Given the description of an element on the screen output the (x, y) to click on. 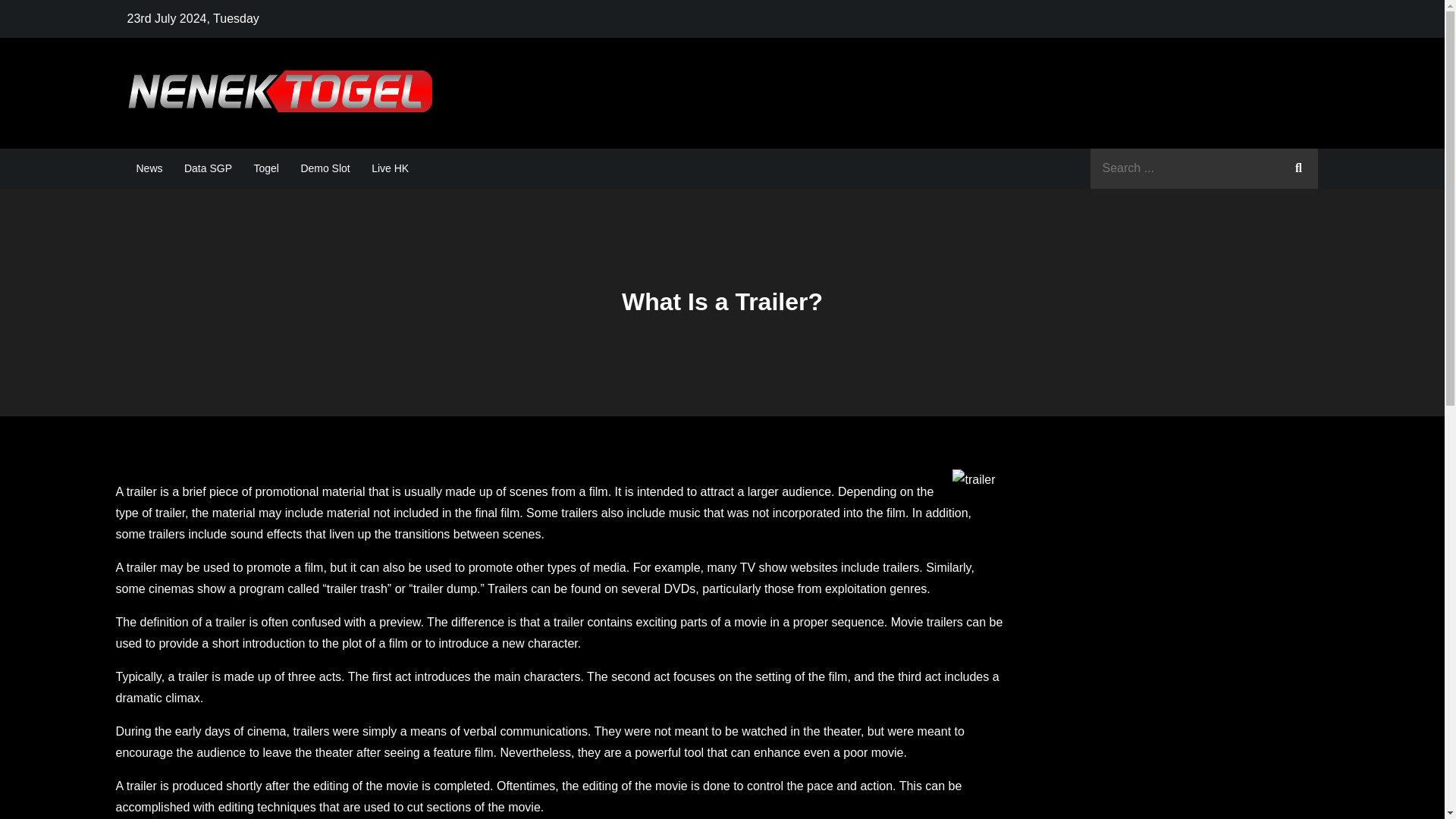
Pragmatic, Pragmatic Play, Agen Slot Pragmatic 2021 (758, 108)
Live HK (389, 168)
Search (1298, 168)
Search for: (1203, 168)
Demo Slot (324, 168)
Togel (265, 168)
News (149, 168)
Data SGP (207, 168)
